Given the description of an element on the screen output the (x, y) to click on. 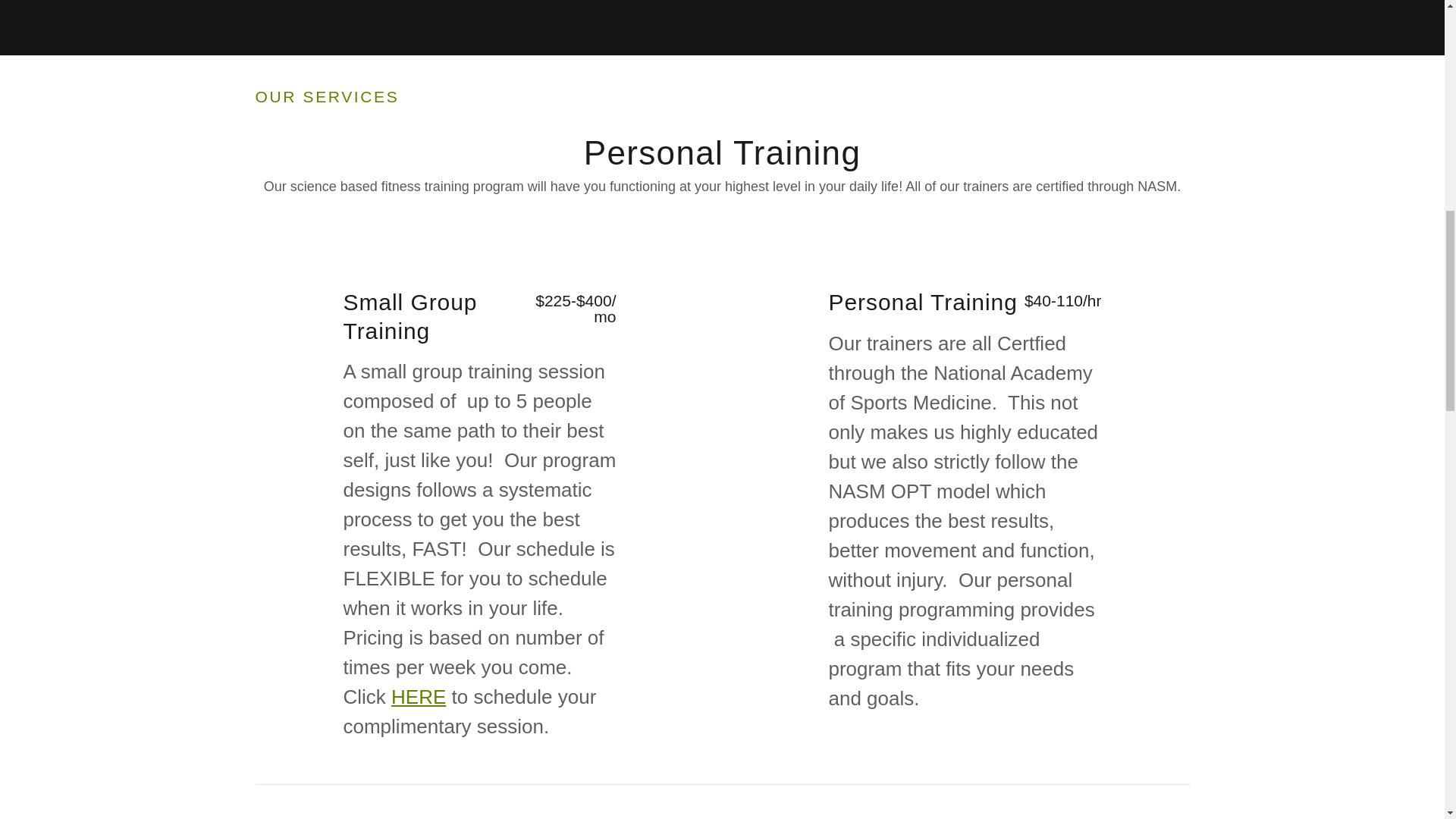
HERE (418, 696)
